Given the description of an element on the screen output the (x, y) to click on. 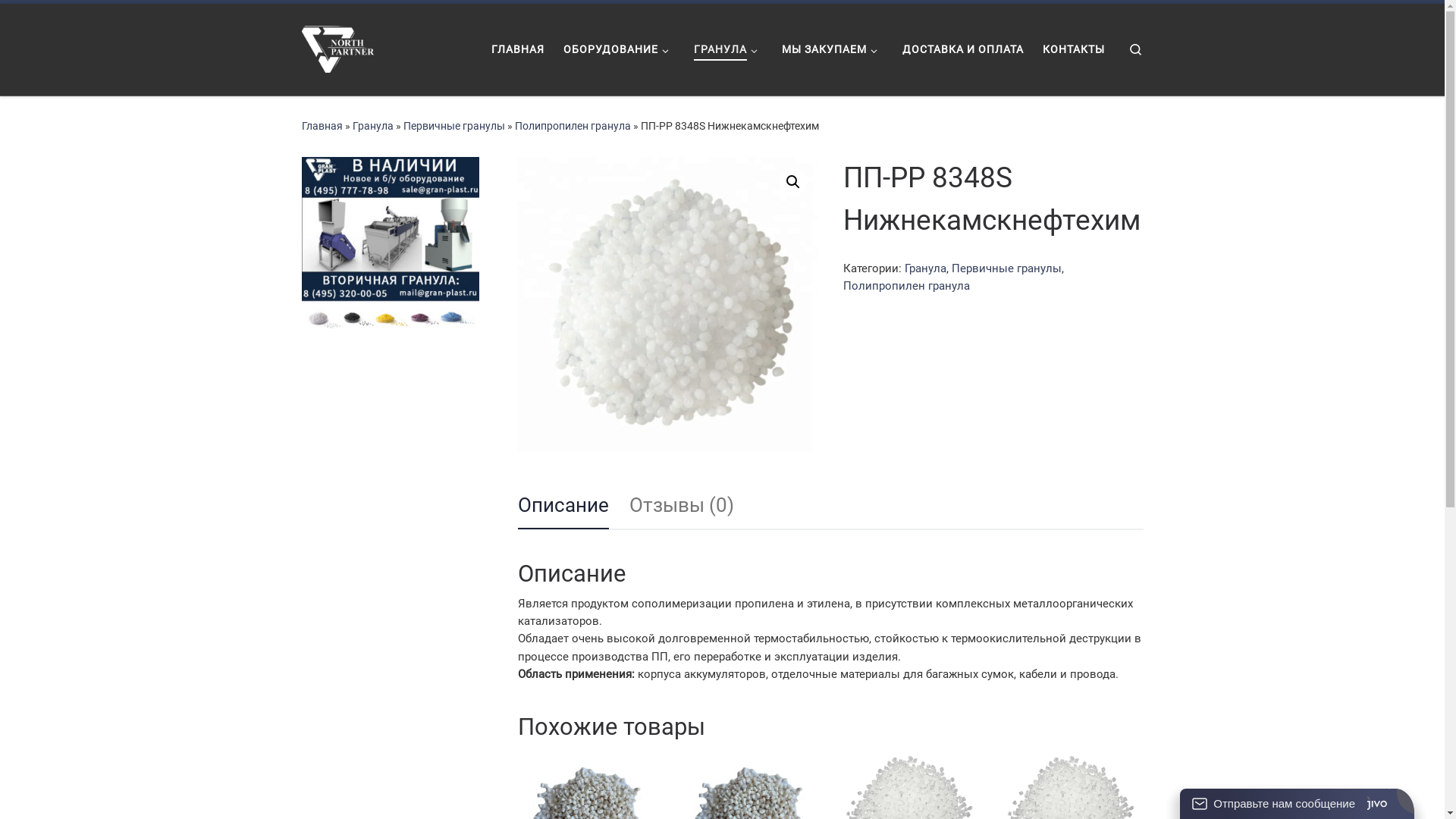
2-3 Element type: hover (667, 306)
Search Element type: text (1135, 49)
Skip to content Element type: text (59, 20)
